Given the description of an element on the screen output the (x, y) to click on. 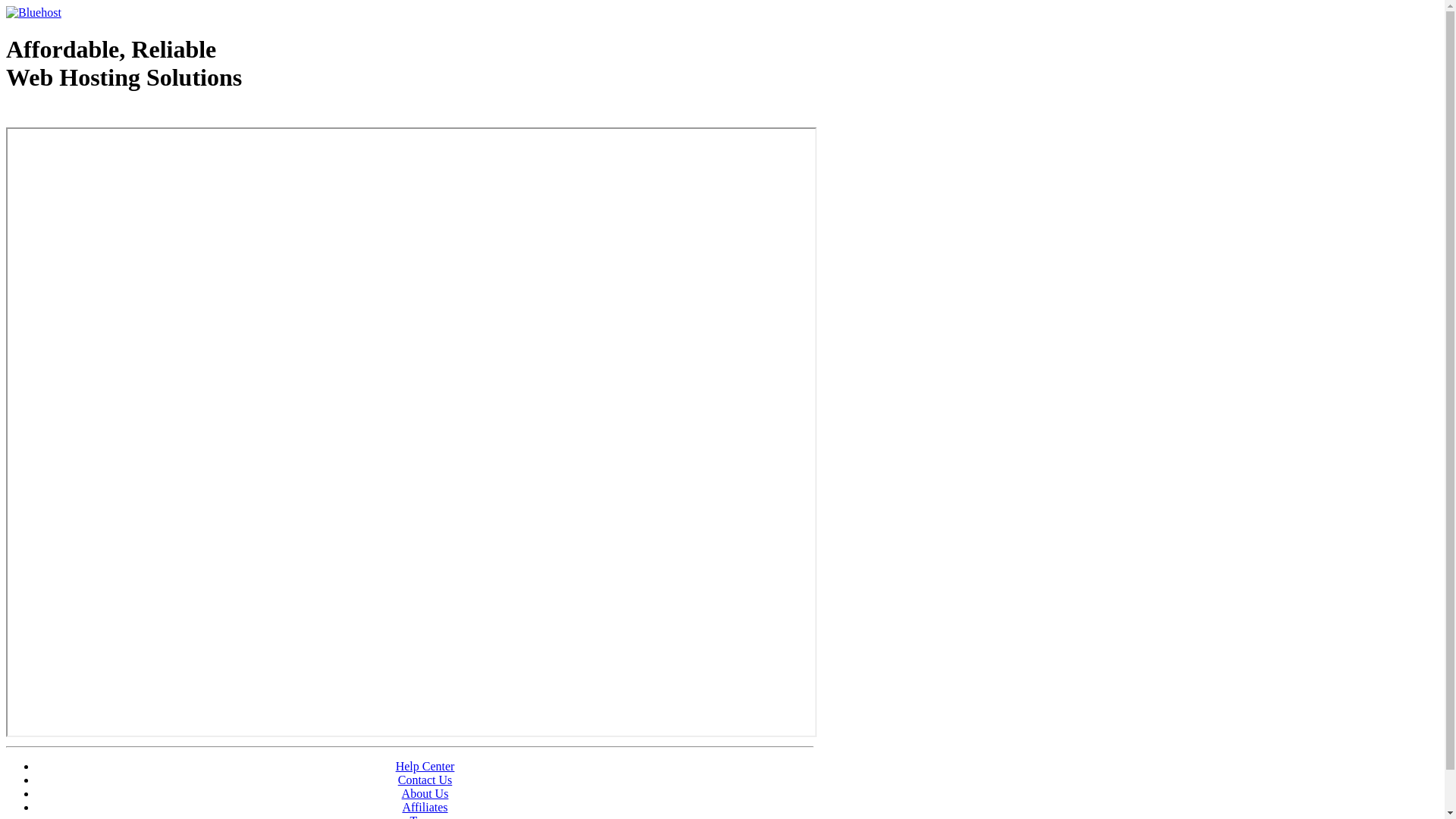
Contact Us Element type: text (425, 779)
Web Hosting - courtesy of www.bluehost.com Element type: text (94, 115)
About Us Element type: text (424, 793)
Help Center Element type: text (425, 765)
Affiliates Element type: text (424, 806)
